Given the description of an element on the screen output the (x, y) to click on. 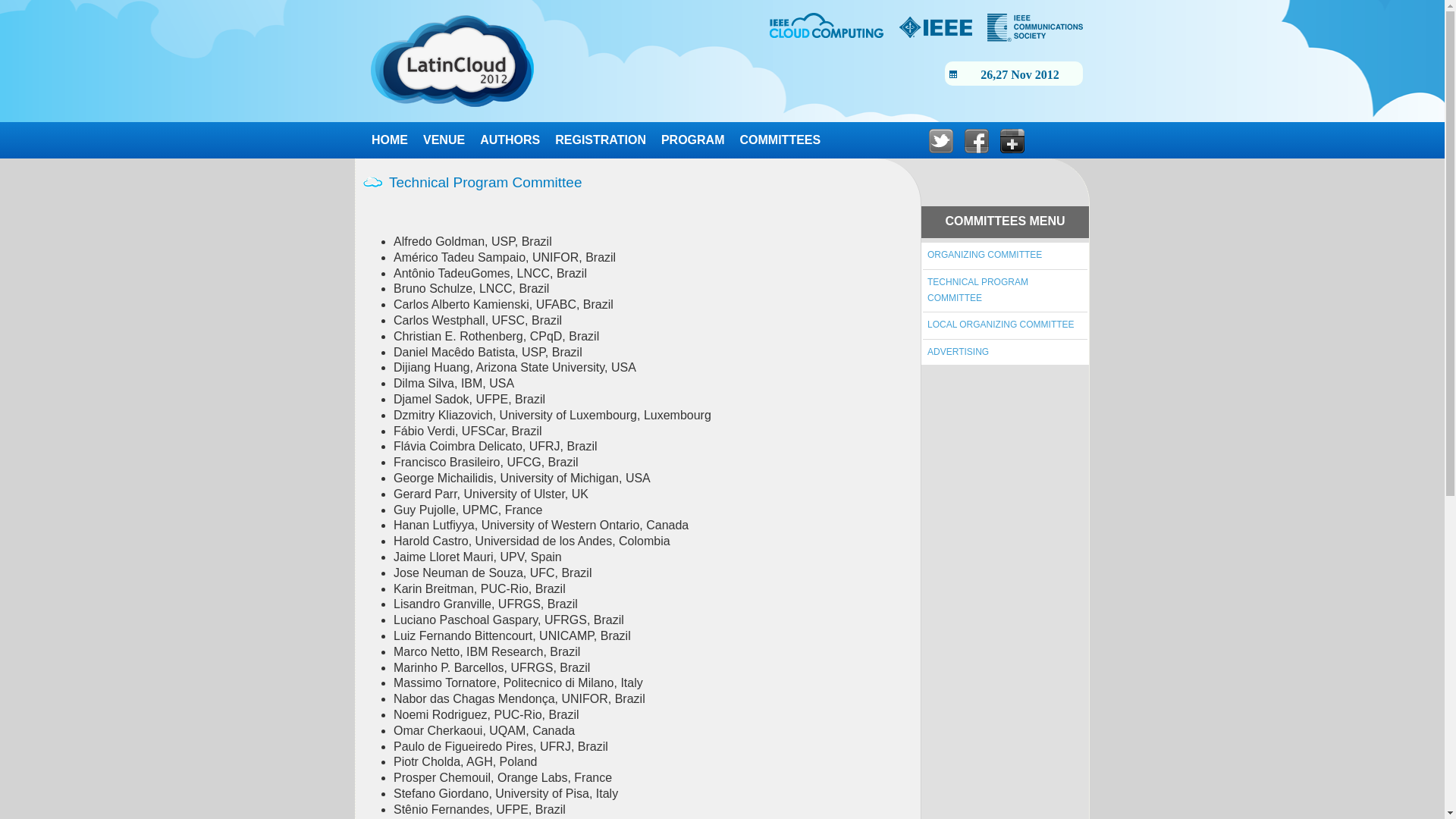
COMMITTEES Element type: text (780, 140)
LOCAL ORGANIZING COMMITTEE Element type: text (1000, 324)
ORGANIZING COMMITTEE Element type: text (984, 254)
HOME Element type: text (389, 140)
REGISTRATION Element type: text (600, 140)
AUTHORS Element type: text (509, 140)
TECHNICAL PROGRAM COMMITTEE Element type: text (977, 289)
VENUE Element type: text (443, 140)
ADVERTISING Element type: text (957, 351)
PROGRAM Element type: text (692, 140)
